Given the description of an element on the screen output the (x, y) to click on. 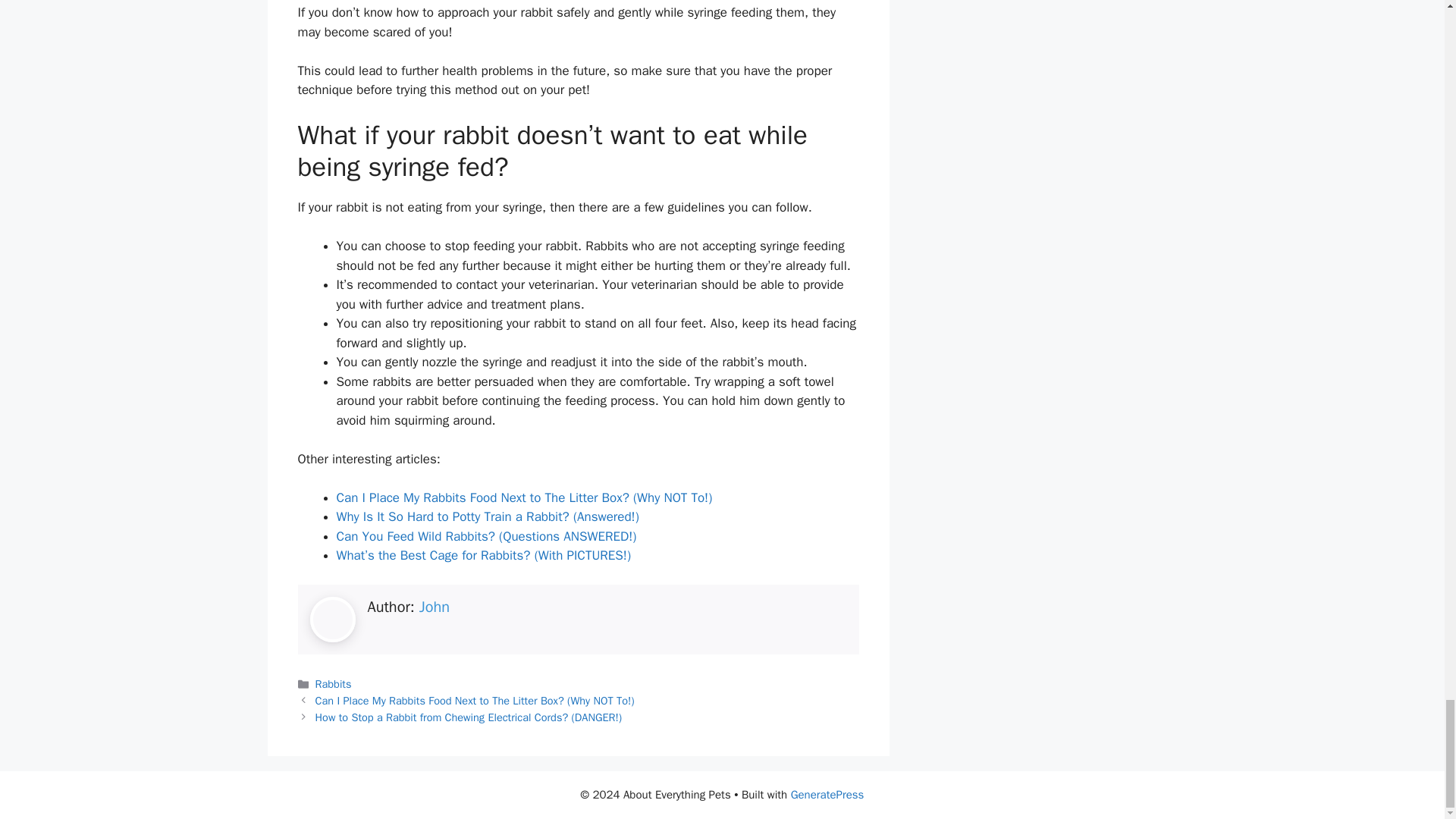
? (491, 536)
Can You Feed Wild Rabbits (411, 536)
Can I Place My Rabbits Food (416, 497)
